Given the description of an element on the screen output the (x, y) to click on. 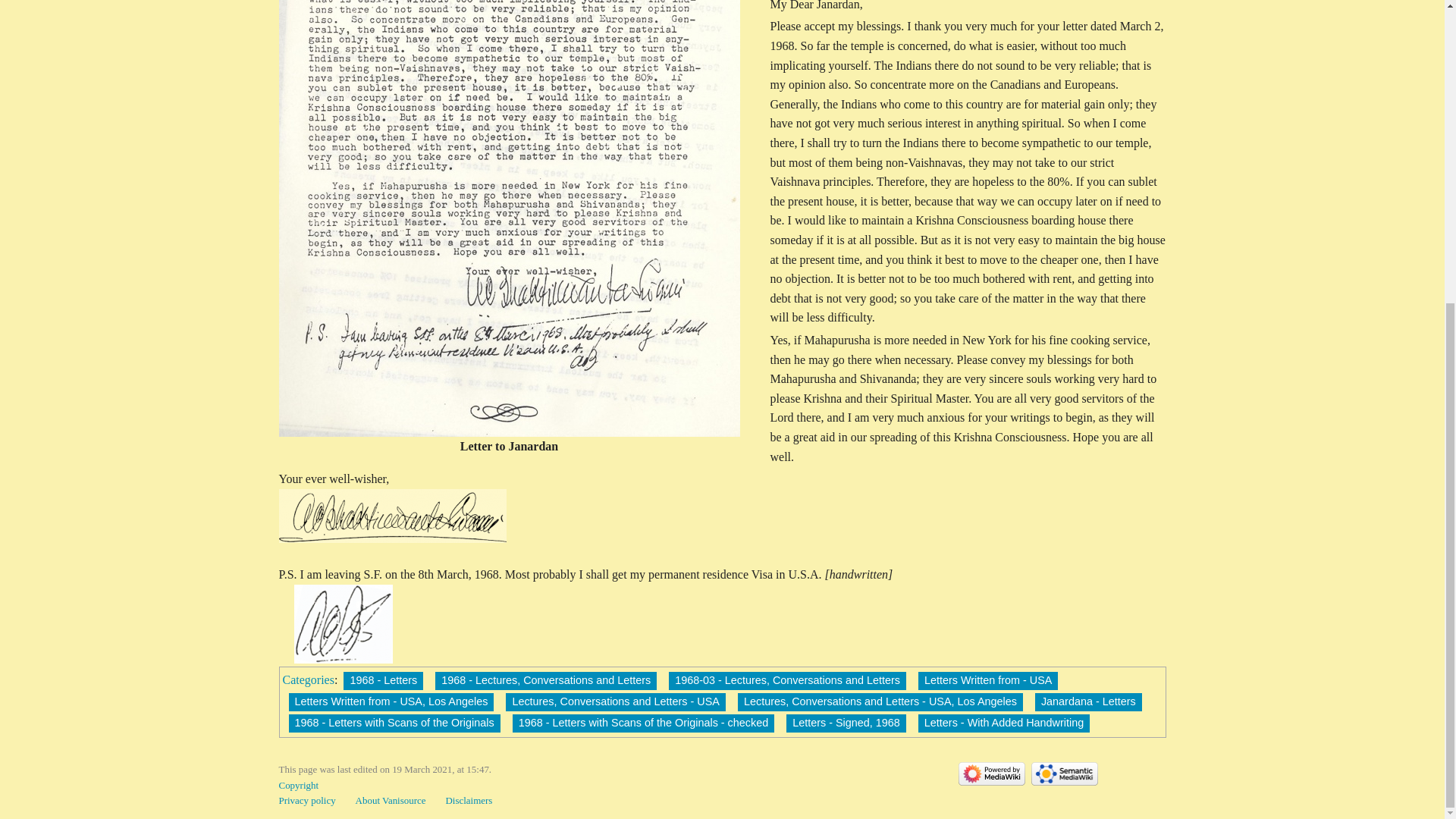
Special:Categories (307, 679)
Category:Lectures, Conversations and Letters - USA (615, 701)
Category:Letters Written from - USA (988, 680)
Category:1968-03 - Lectures, Conversations and Letters (786, 680)
Category:1968 - Letters (383, 680)
Category:1968 - Lectures, Conversations and Letters (545, 680)
Category:Letters Written from - USA, Los Angeles (390, 701)
